Given the description of an element on the screen output the (x, y) to click on. 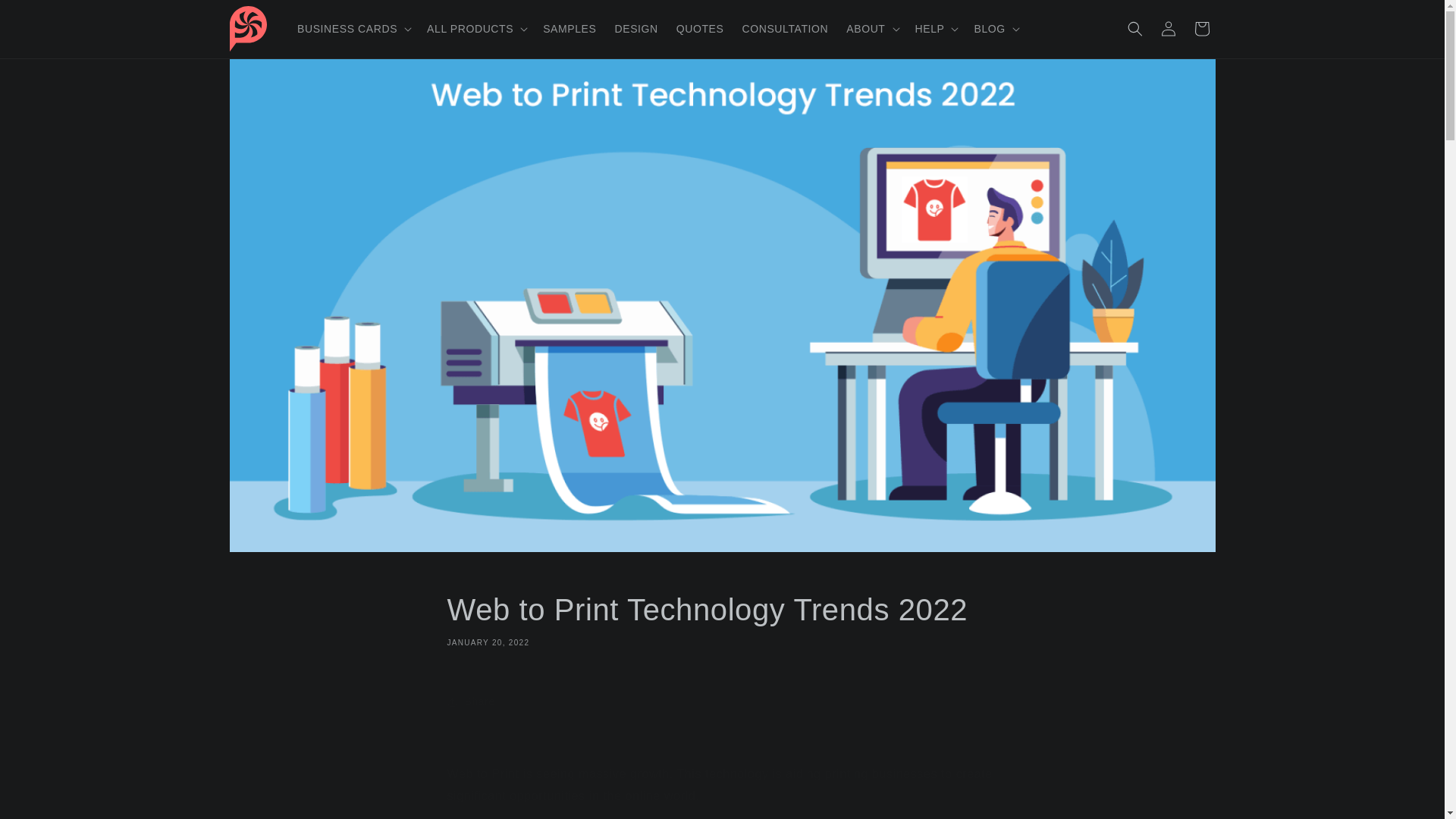
Skip to content (45, 17)
Share (721, 702)
